Given the description of an element on the screen output the (x, y) to click on. 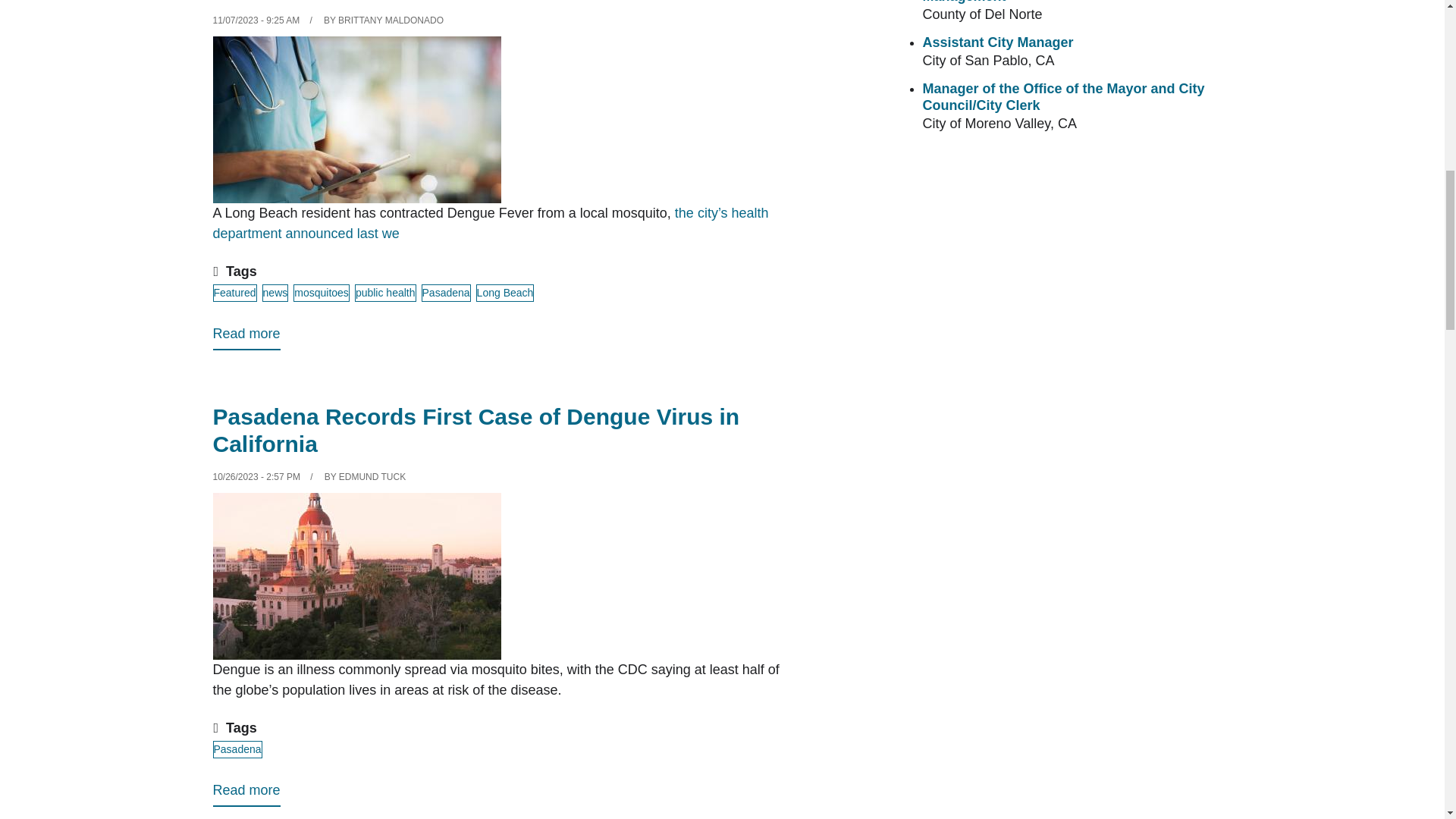
Featured (234, 293)
Pasadena Records First Case of Dengue Virus in California (245, 793)
news (275, 293)
